Given the description of an element on the screen output the (x, y) to click on. 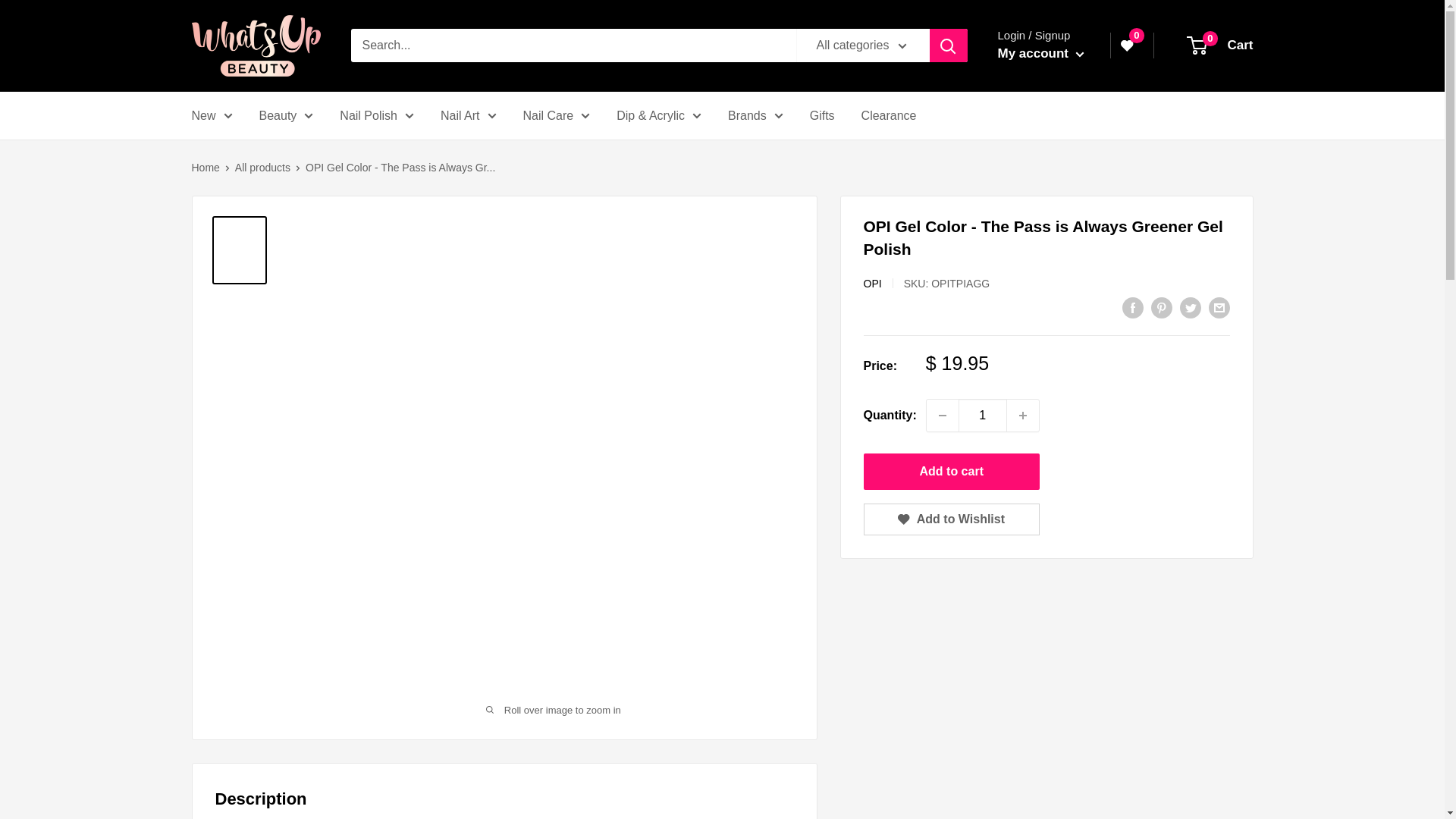
1 (982, 415)
Increase quantity by 1 (1023, 415)
Decrease quantity by 1 (942, 415)
